Given the description of an element on the screen output the (x, y) to click on. 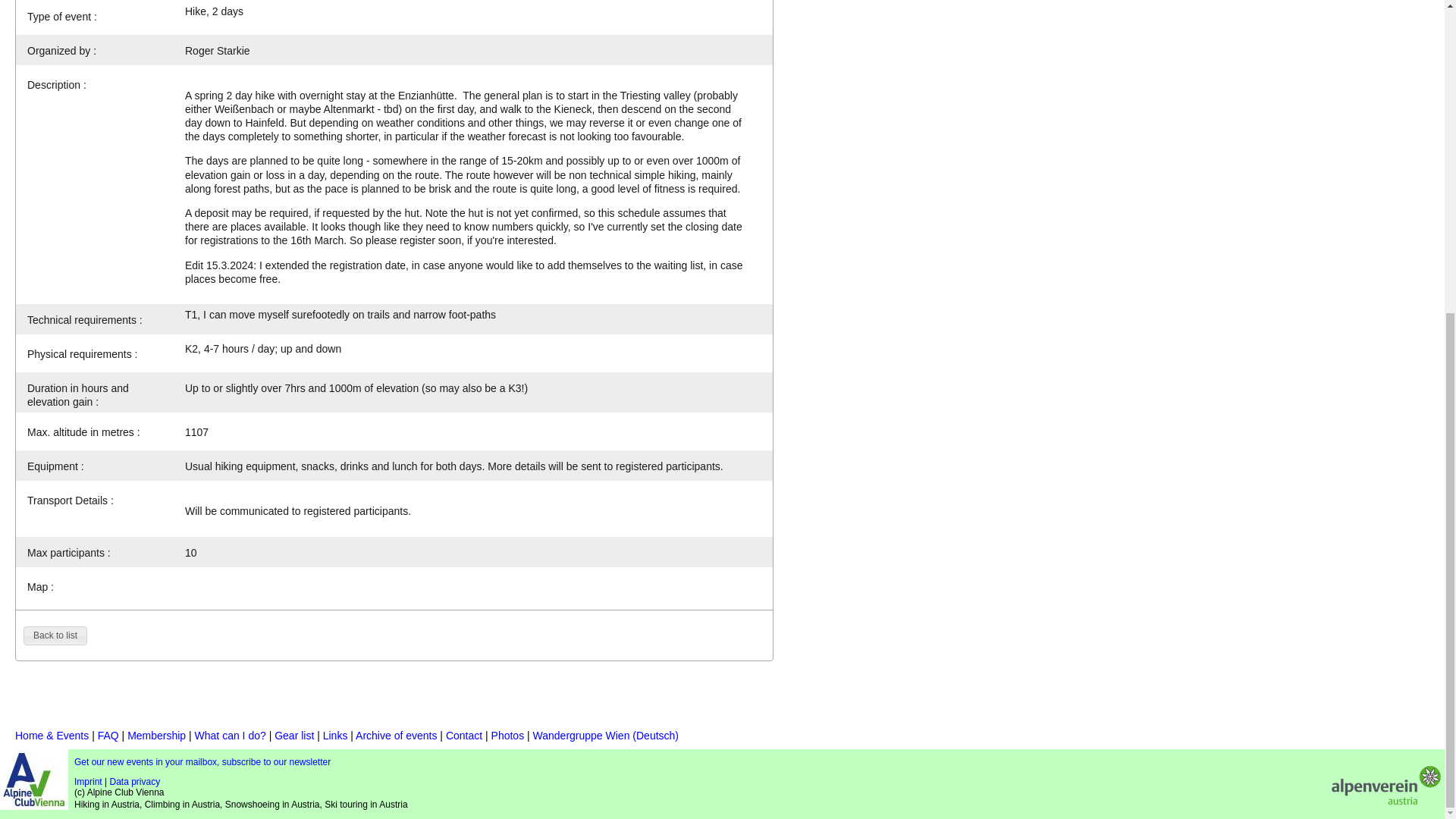
What can I do? (230, 735)
Archive of events (395, 735)
Links (335, 735)
Imprint (87, 781)
Data privacy (134, 781)
Photos (508, 735)
FAQ (108, 735)
Contact (463, 735)
Gear list (294, 735)
Back to list (55, 636)
Membership (157, 735)
